Given the description of an element on the screen output the (x, y) to click on. 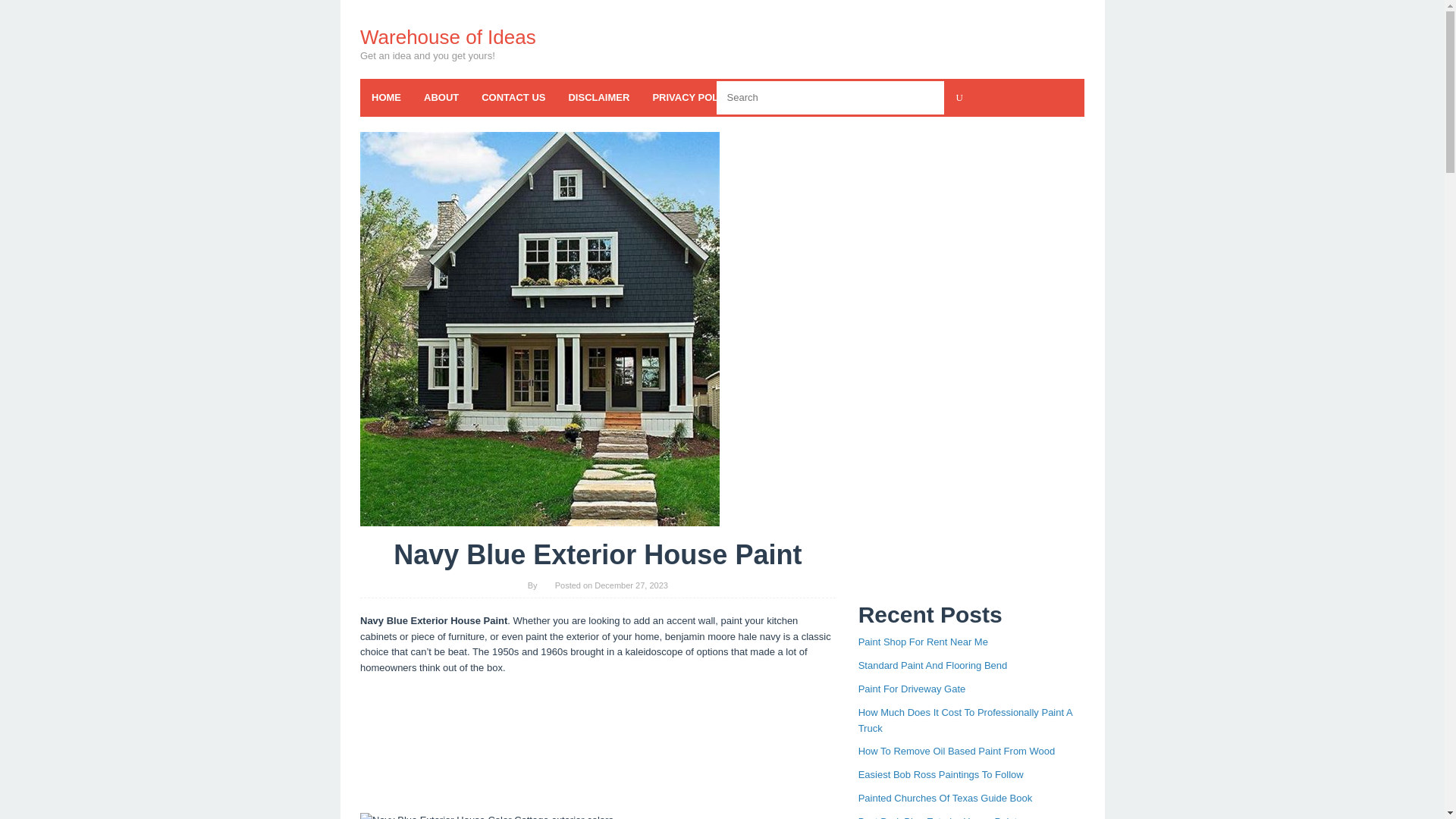
Standard Paint And Flooring Bend (933, 665)
How Much Does It Cost To Professionally Paint A Truck (965, 719)
DISCLAIMER (598, 97)
Warehouse of Ideas (447, 36)
PRIVACY POLICY (692, 97)
How To Remove Oil Based Paint From Wood (957, 750)
Painted Churches Of Texas Guide Book (945, 797)
Warehouse of Ideas (447, 36)
Paint Shop For Rent Near Me (923, 641)
ABOUT (441, 97)
CONTACT US (513, 97)
SITEMAP (910, 97)
Easiest Bob Ross Paintings To Follow (941, 774)
Best Dark Blue Exterior House Paint (938, 817)
